Given the description of an element on the screen output the (x, y) to click on. 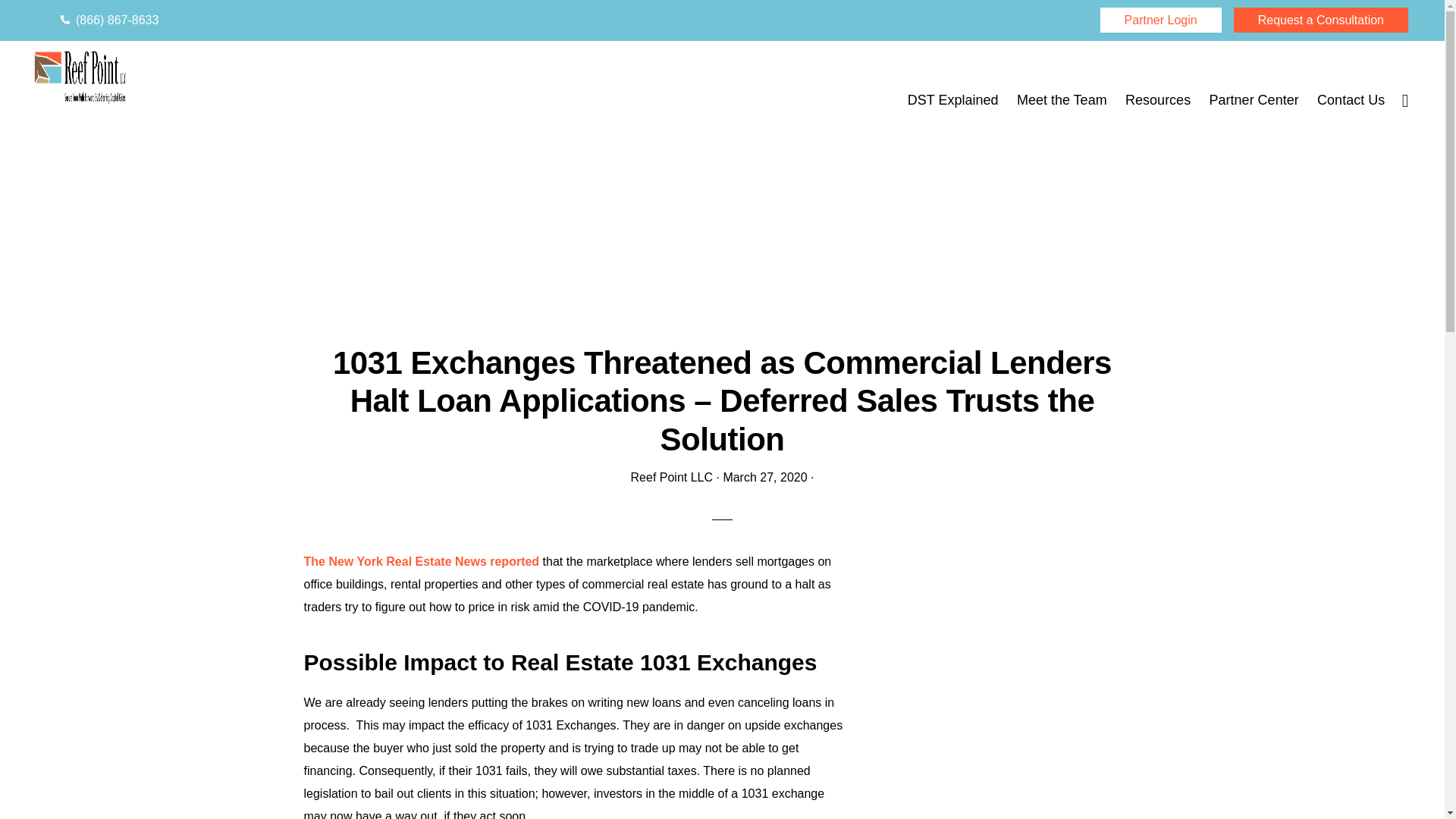
Partner Login (1160, 19)
DST Explained (952, 100)
Reef Point LLC (671, 477)
Contact Us (1349, 100)
Partner Center (1254, 100)
Resources (1158, 100)
Meet the Team (1062, 100)
Request a Consultation (1320, 19)
The New York Real Estate News reported (420, 561)
